Given the description of an element on the screen output the (x, y) to click on. 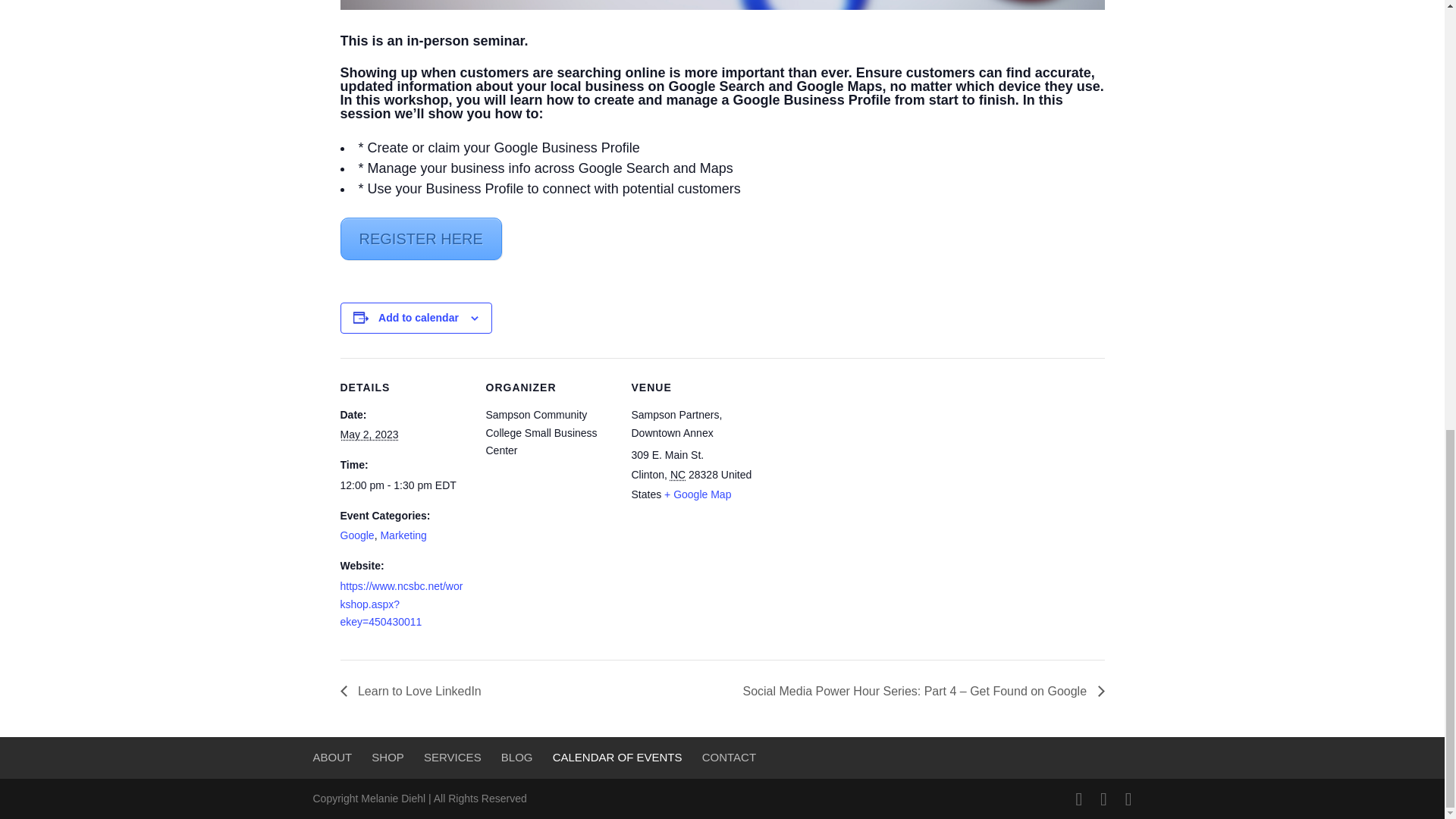
REGISTER HERE (419, 238)
North Carolina (677, 474)
2023-05-02 (368, 434)
Google (356, 535)
Add to calendar (418, 317)
Click to view a Google Map (696, 494)
Learn to Love LinkedIn (414, 690)
Marketing (403, 535)
2023-05-02 (403, 485)
